Given the description of an element on the screen output the (x, y) to click on. 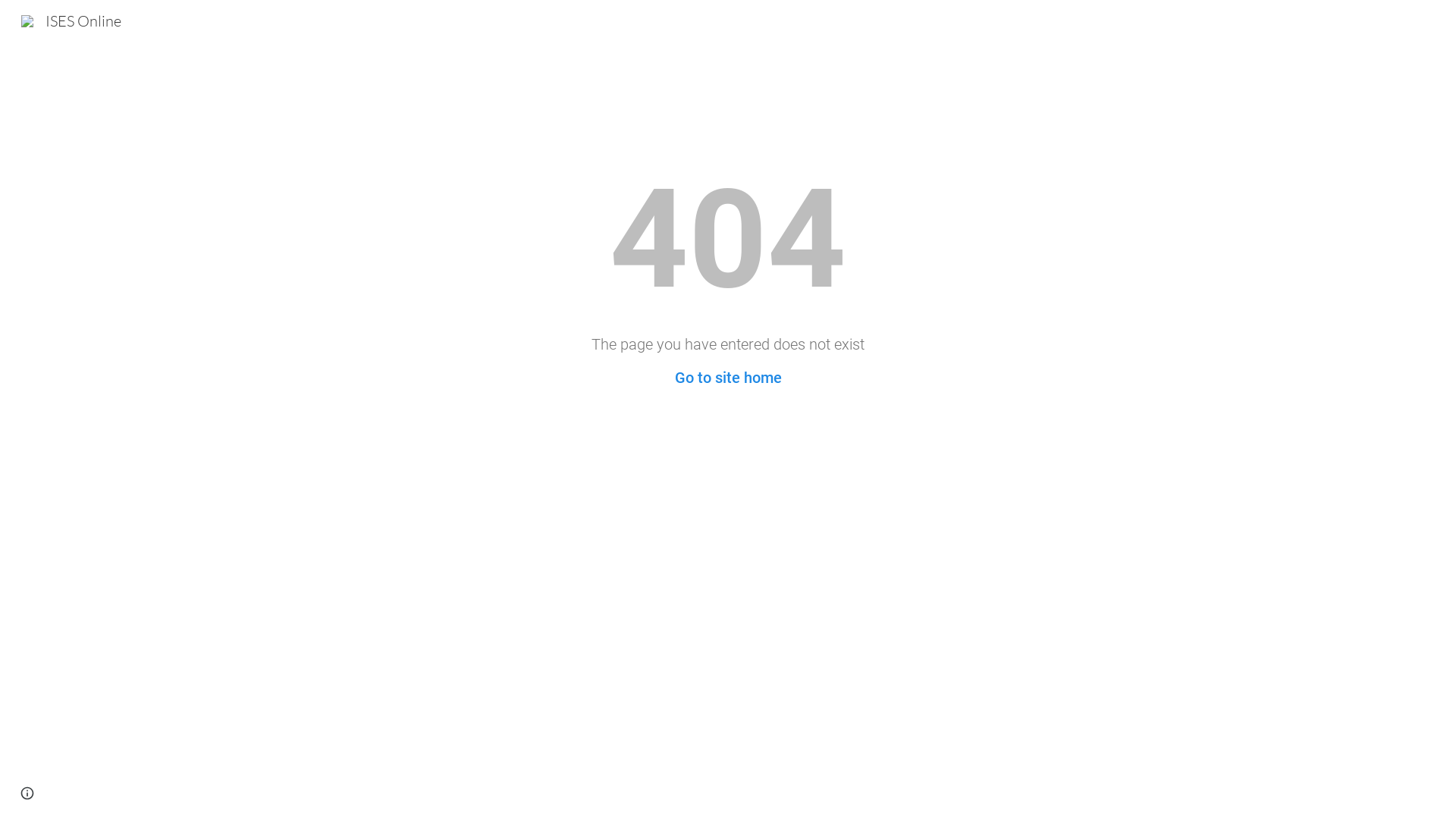
Go to site home Element type: text (727, 377)
ISES Online Element type: text (71, 18)
